Given the description of an element on the screen output the (x, y) to click on. 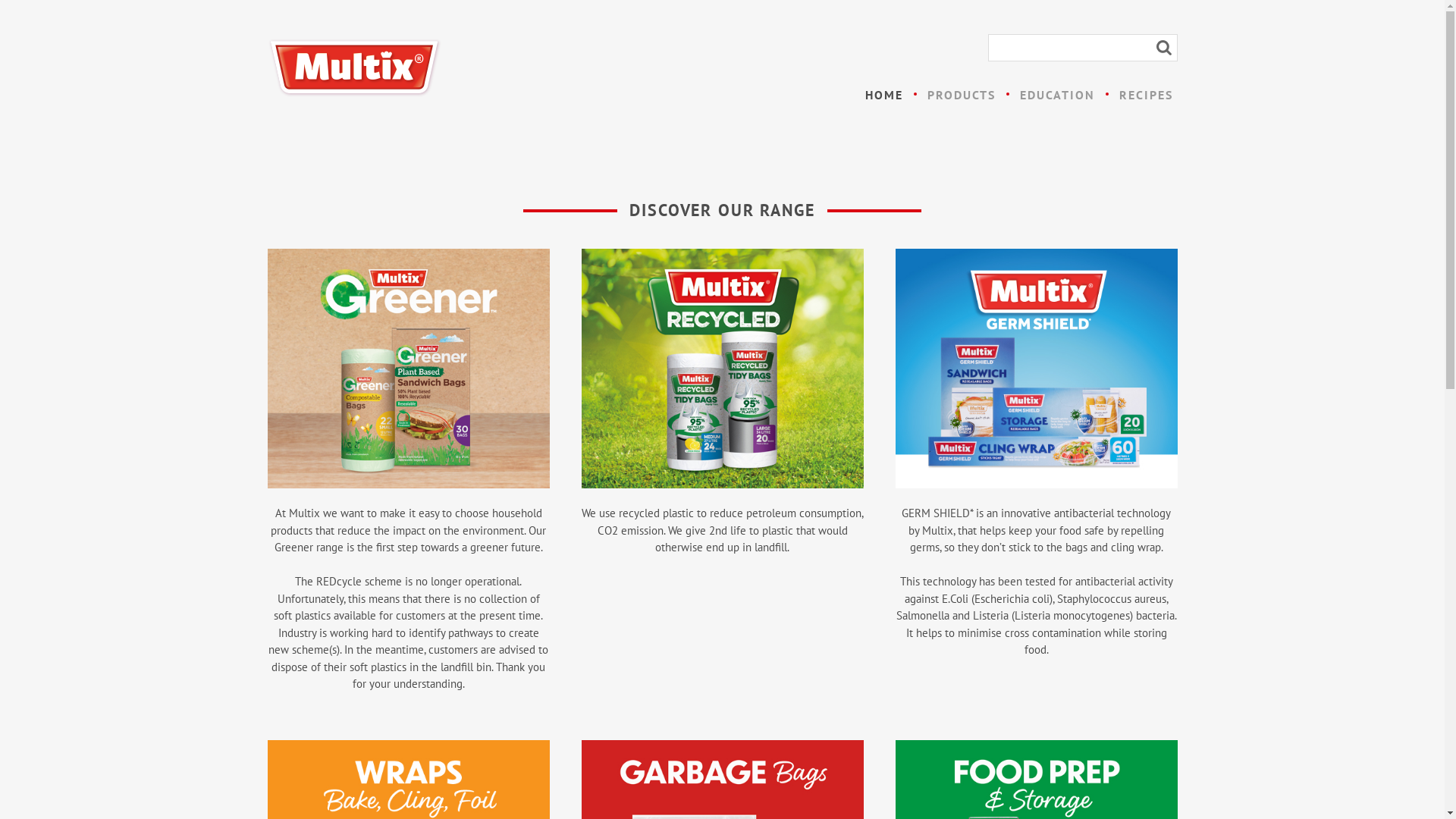
HOME Element type: text (883, 94)
Search Element type: text (1162, 47)
Recycled Element type: hover (721, 368)
Greener Element type: hover (407, 368)
Multix Element type: hover (353, 67)
Germ Shield Element type: hover (1035, 368)
RECIPES Element type: text (1146, 94)
PRODUCTS Element type: text (960, 94)
EDUCATION Element type: text (1056, 94)
